Given the description of an element on the screen output the (x, y) to click on. 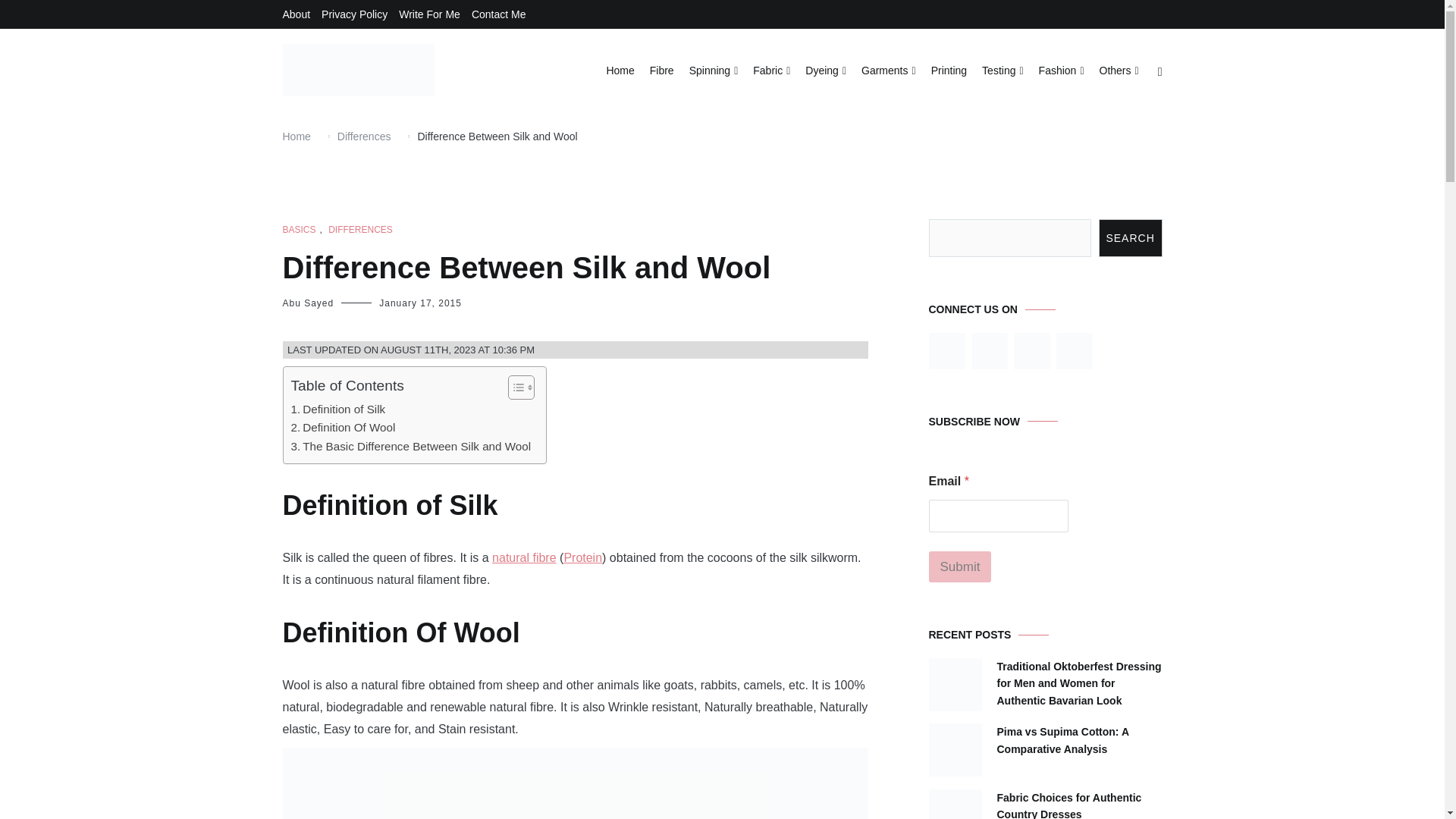
Garments (888, 71)
Spinning (713, 71)
Definition Of Wool (343, 427)
Dyeing (825, 71)
Write For Me (429, 14)
About (296, 14)
Fabric (771, 71)
Contact Me (498, 14)
Fibre (661, 71)
Privacy Policy (354, 14)
The Basic Difference Between Silk and Wool (411, 446)
Definition of Silk (338, 409)
Home (619, 71)
Textile Apex (328, 113)
